Given the description of an element on the screen output the (x, y) to click on. 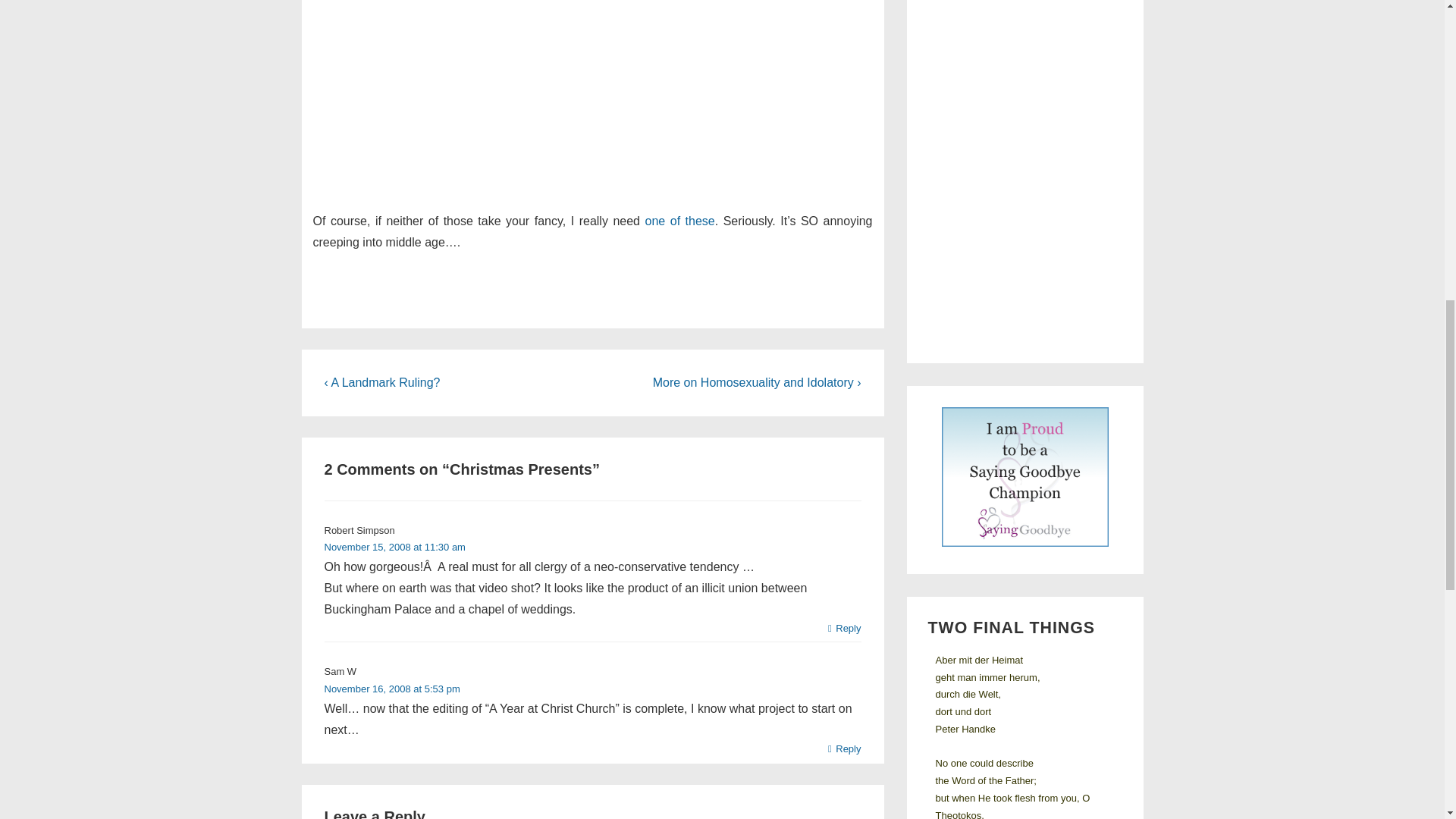
Reply (844, 628)
Reply (844, 748)
November 16, 2008 at 5:53 pm (392, 688)
one of these (679, 219)
November 15, 2008 at 11:30 am (394, 546)
